Given the description of an element on the screen output the (x, y) to click on. 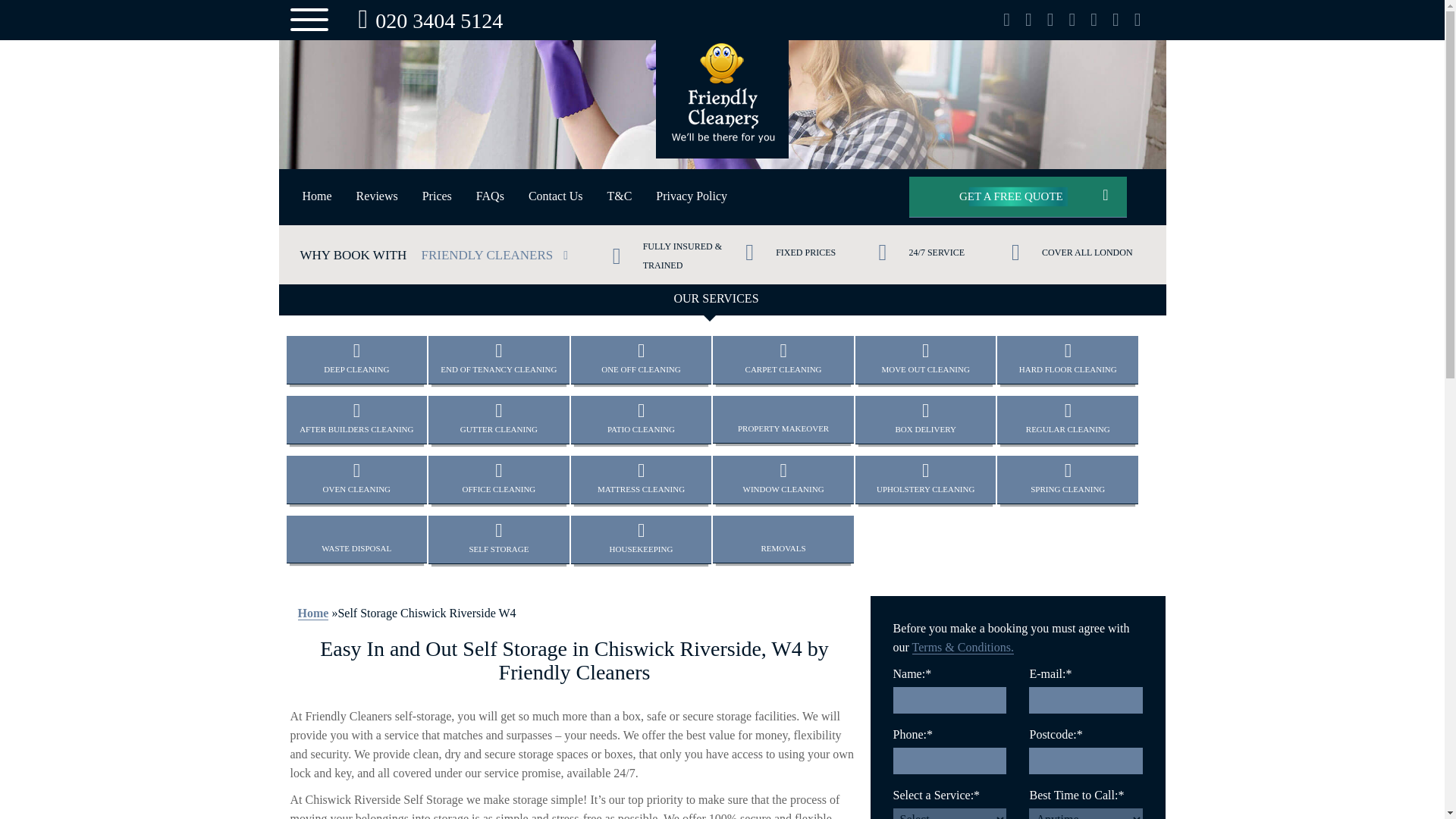
CARPET CLEANING (783, 359)
Reviews (376, 196)
Cleaning Prices (722, 20)
OFFICE CLEANING (437, 196)
DEEP CLEANING (498, 479)
OVEN CLEANING (357, 359)
020 3404 5124 (357, 479)
PROPERTY MAKEOVER (426, 20)
UPHOLSTERY CLEANING (783, 419)
Home (925, 479)
Contact Friendly Cleaners (316, 196)
GUTTER CLEANING (555, 196)
PATIO CLEANING (498, 419)
